Given the description of an element on the screen output the (x, y) to click on. 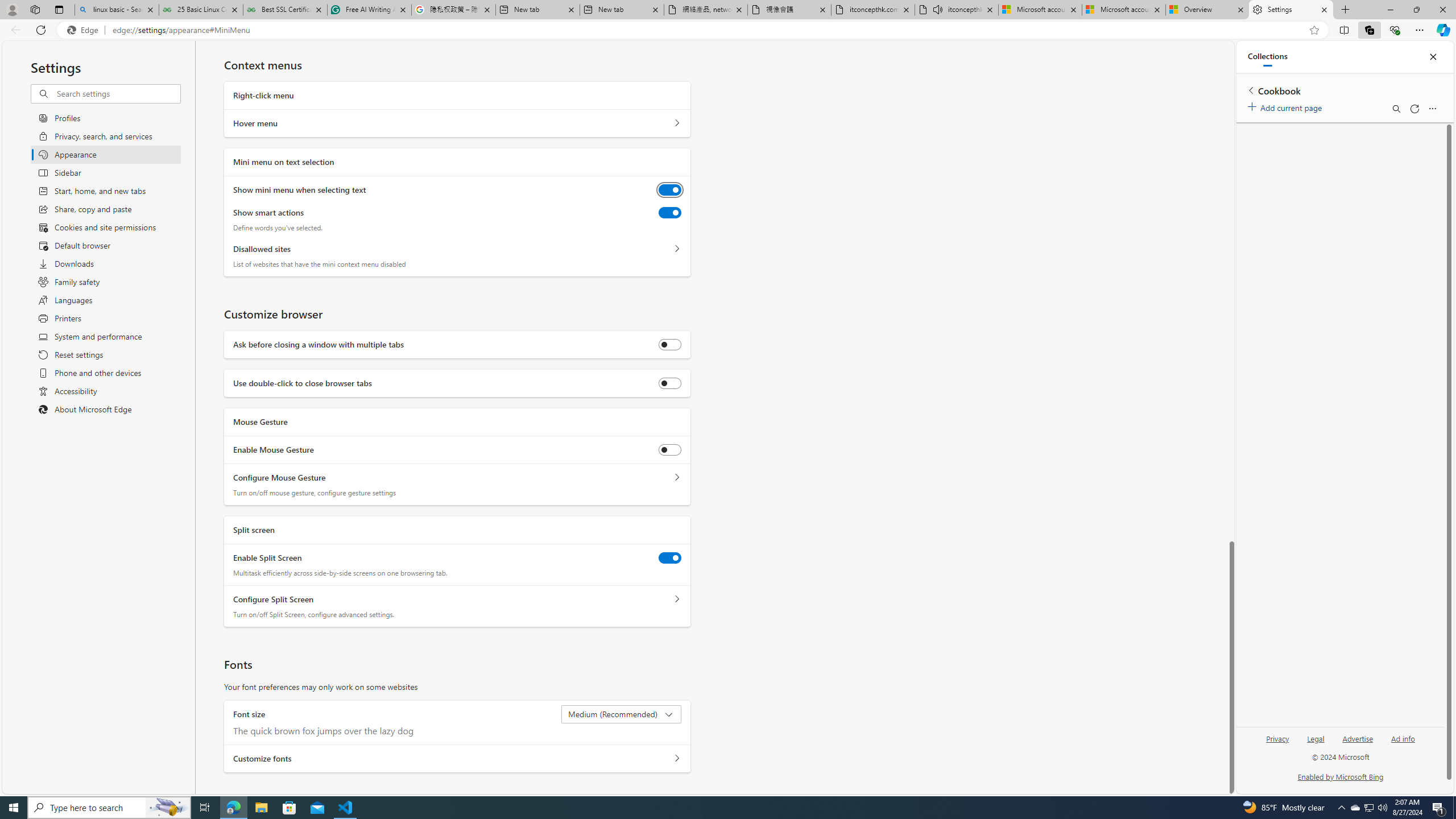
More options menu (1432, 108)
Use double-click to close browser tabs (669, 383)
25 Basic Linux Commands For Beginners - GeeksforGeeks (200, 9)
Disallowed sites (676, 249)
